Given the description of an element on the screen output the (x, y) to click on. 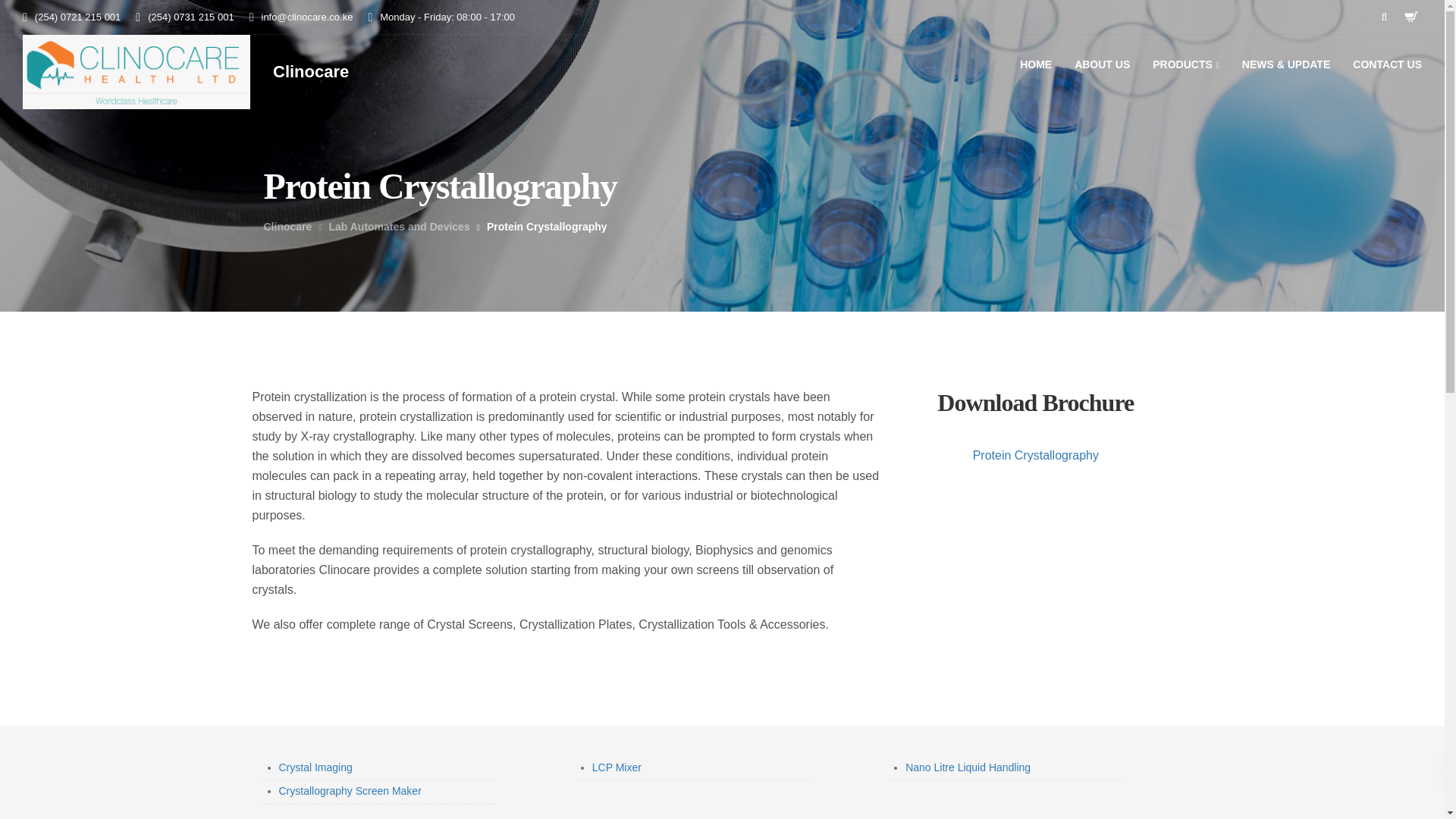
PRODUCTS (1185, 64)
Contact us (569, 373)
Clinocare (311, 72)
Immunology (527, 504)
Protein Crystallography (1035, 454)
ABOUT US (1101, 64)
Go to Clinocare. (288, 226)
Shop (343, 373)
LCP Mixer (617, 767)
Lab Automates and Devices (398, 226)
Crystal Imaging (315, 767)
About us (284, 373)
Careers (400, 373)
CONTACT US (1386, 64)
